Given the description of an element on the screen output the (x, y) to click on. 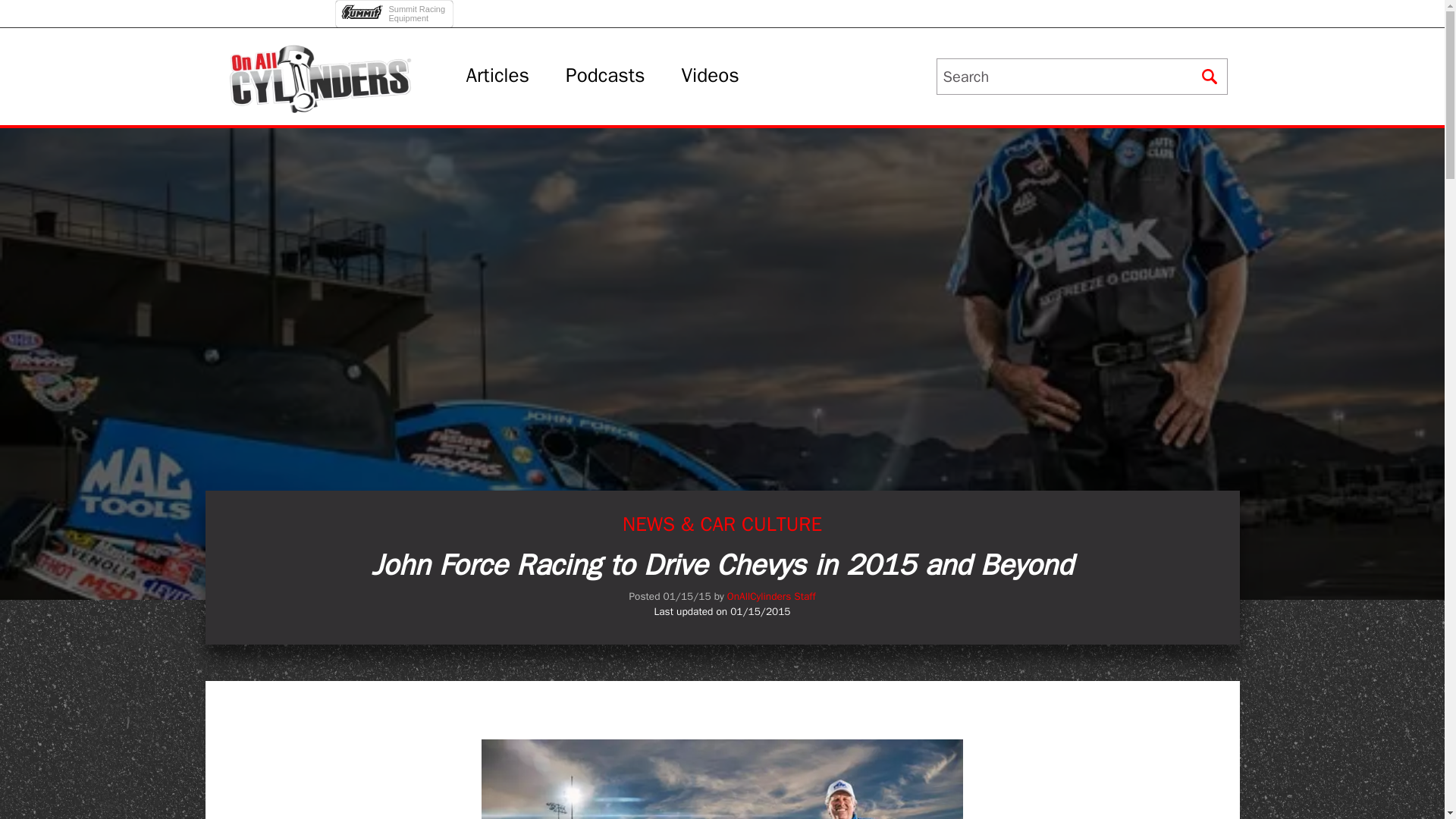
Podcasts (605, 76)
Articles (497, 76)
Videos (395, 9)
